Given the description of an element on the screen output the (x, y) to click on. 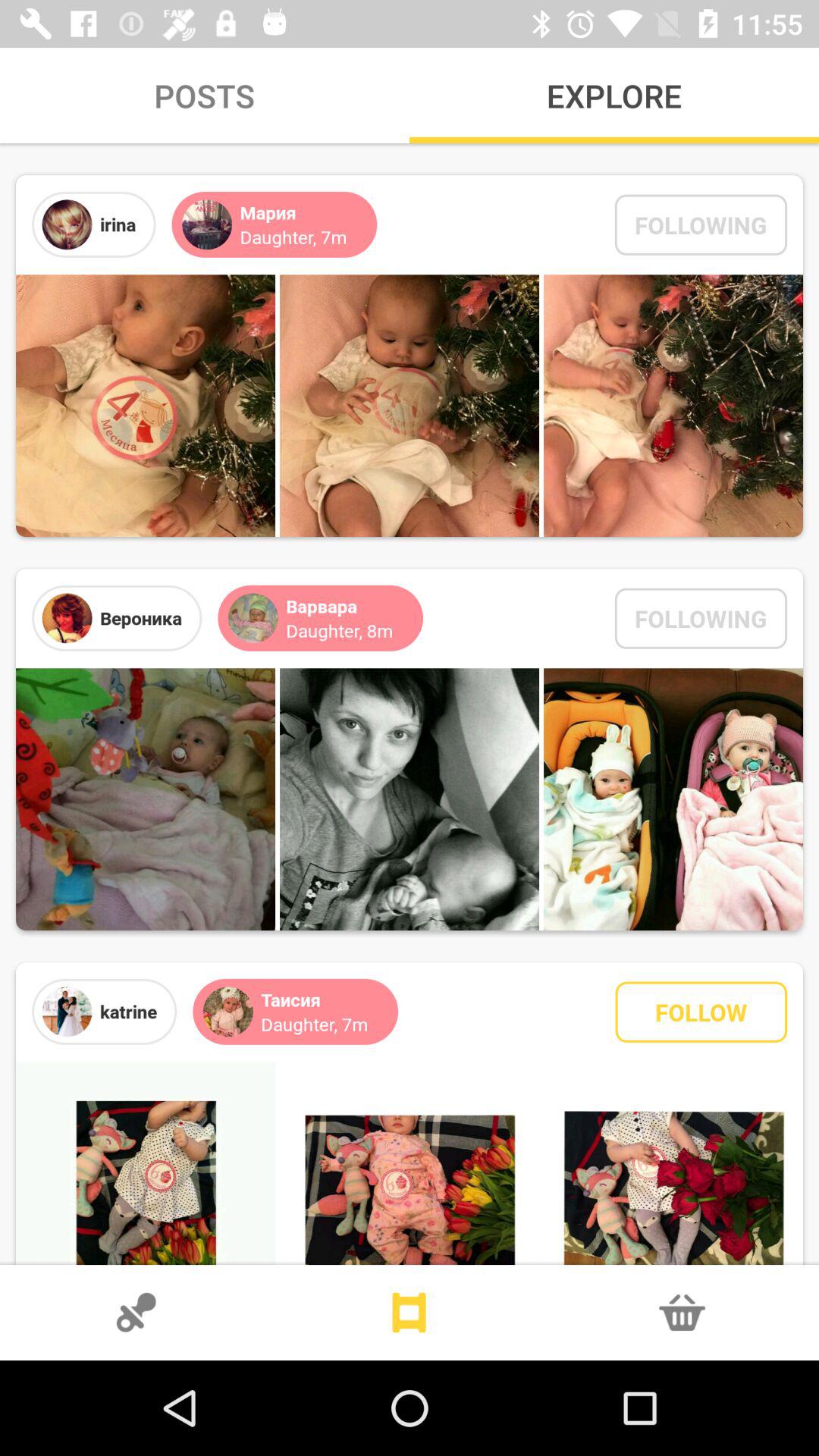
shop for pictured items (682, 1312)
